Given the description of an element on the screen output the (x, y) to click on. 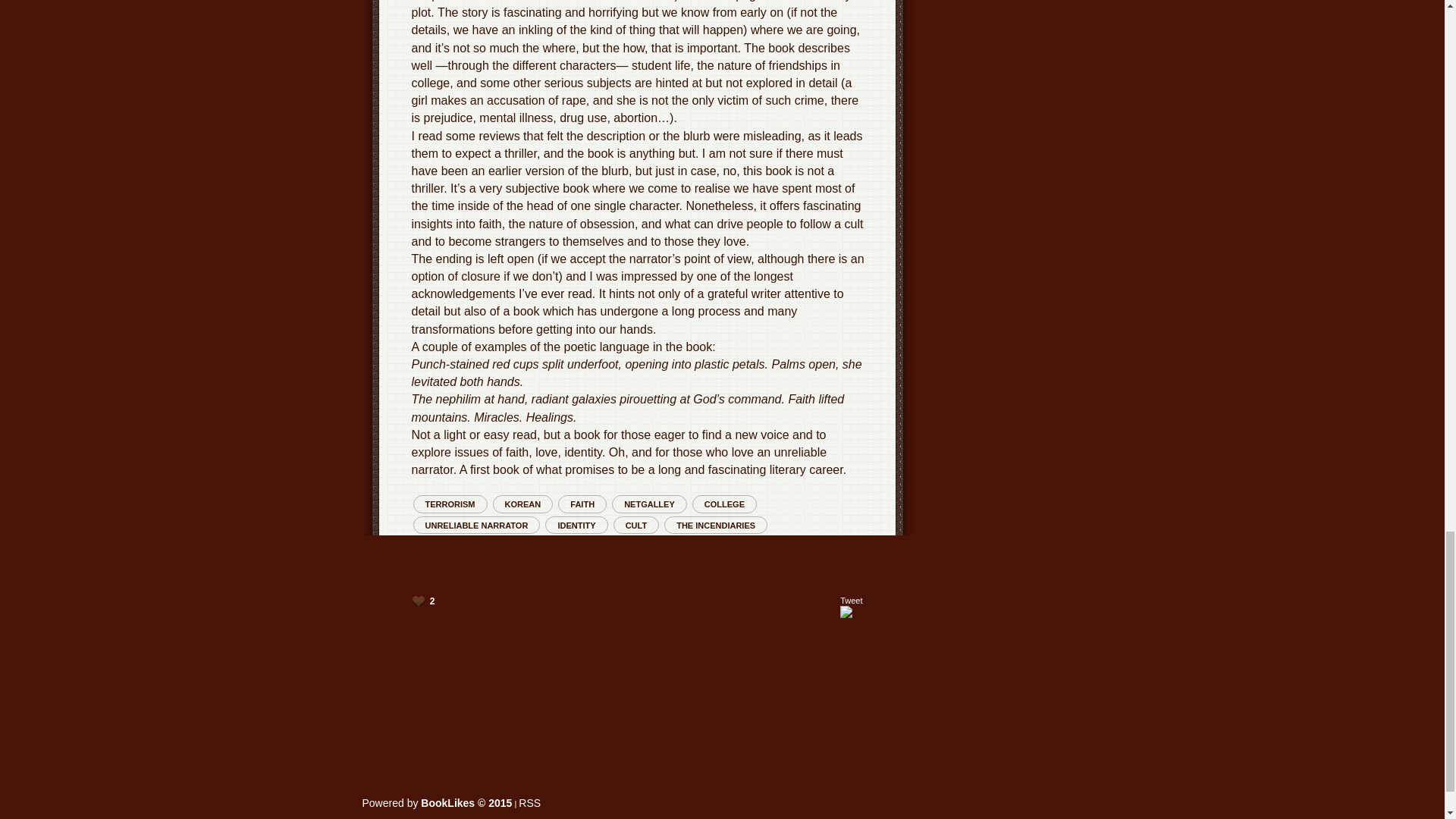
TERRORISM (449, 503)
Tweet (850, 600)
NETGALLEY (649, 503)
UNRELIABLE NARRATOR (476, 524)
IDENTITY (575, 524)
RSS (529, 802)
KOREAN (523, 503)
FAITH (582, 503)
CULT (635, 524)
BookLikes (437, 802)
THE INCENDIARIES (715, 524)
COLLEGE (725, 503)
BookLikes (529, 802)
